Given the description of an element on the screen output the (x, y) to click on. 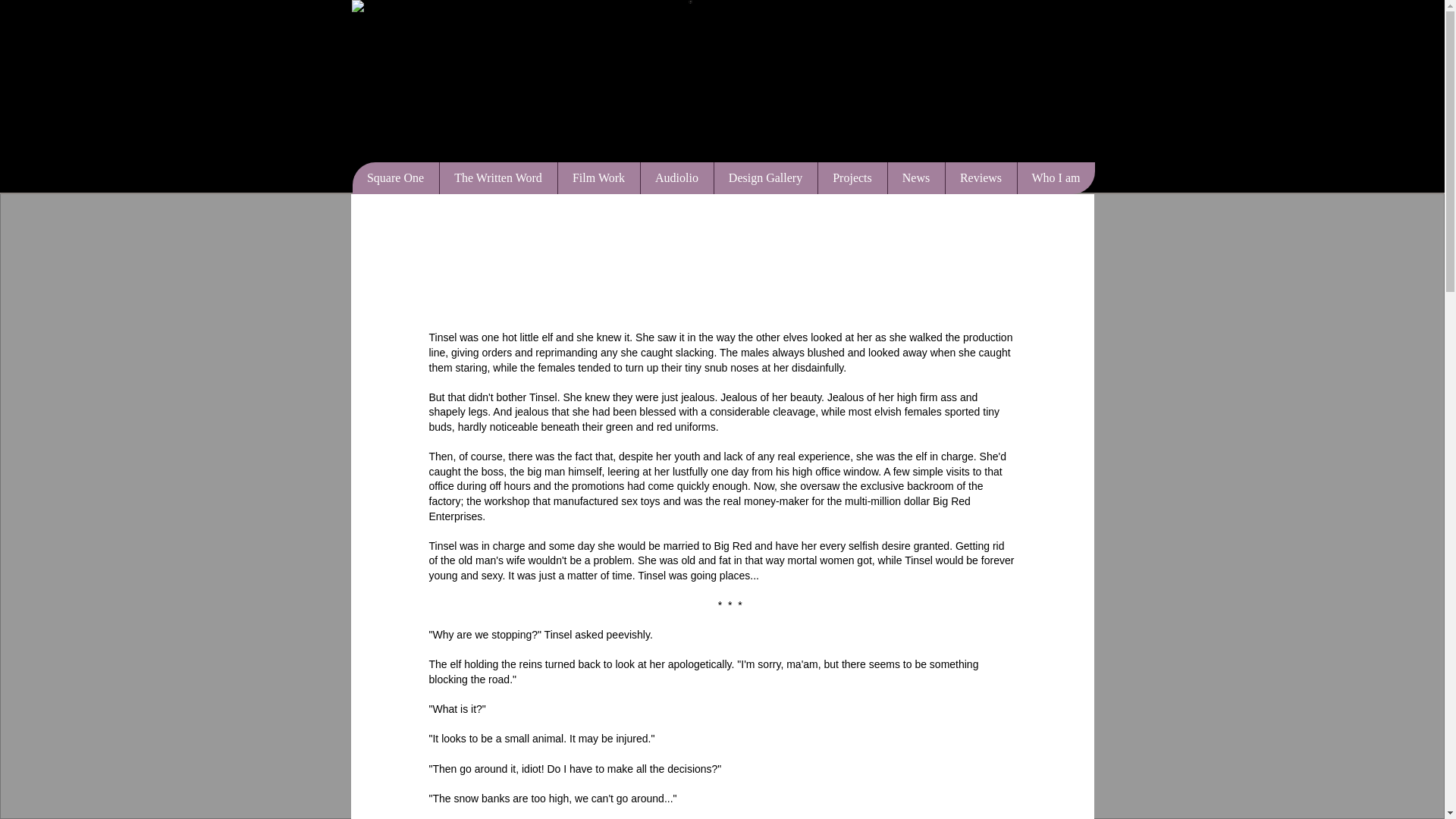
Film Work (597, 178)
Reviews (980, 178)
Audiolio (676, 178)
Projects (851, 178)
The Written Word (497, 178)
Who I am (1055, 178)
News (915, 178)
Square One (395, 178)
Design Gallery (764, 178)
